Given the description of an element on the screen output the (x, y) to click on. 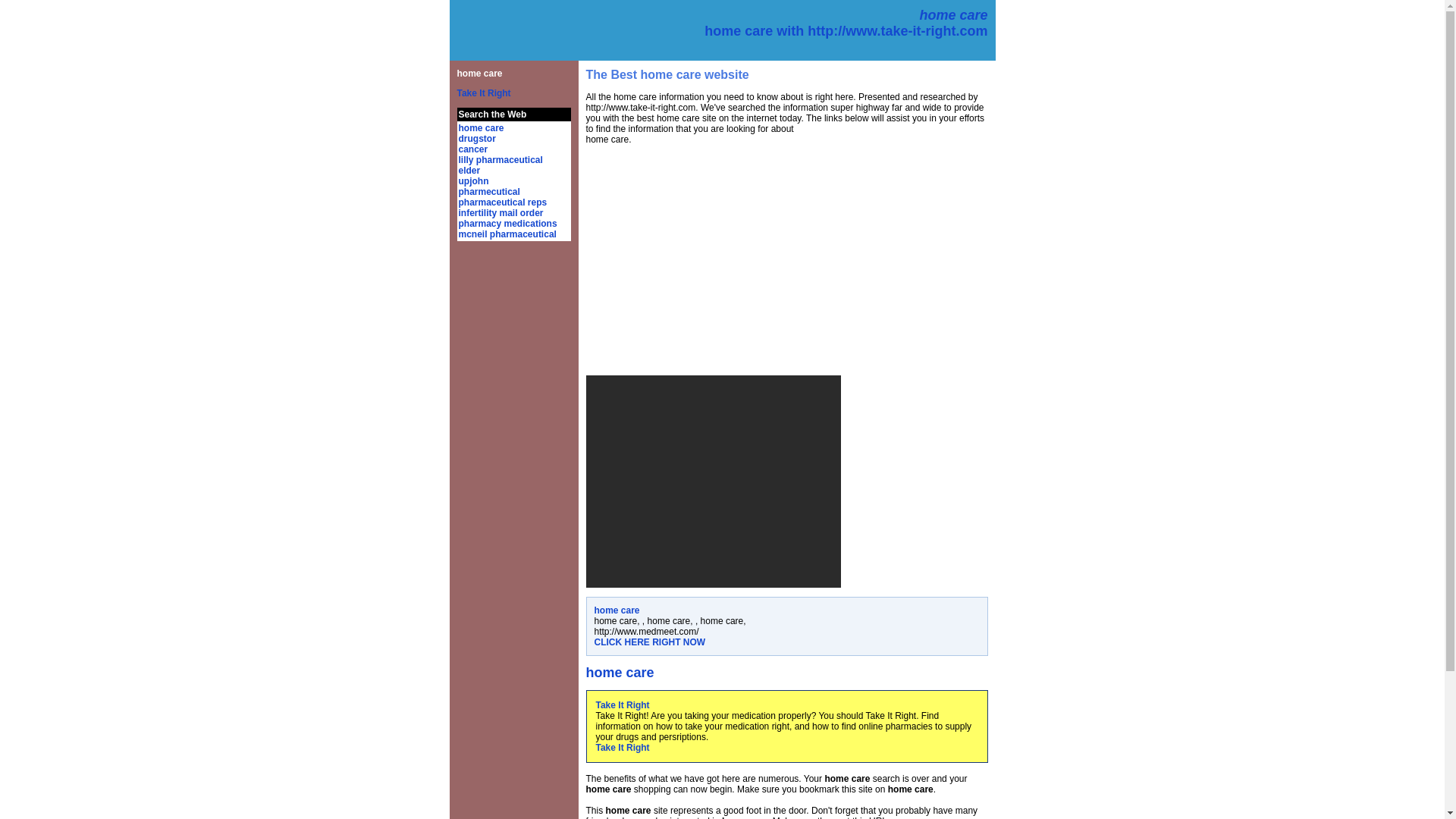
lilly pharmaceutical (499, 159)
home care (480, 127)
Advertisement (712, 481)
pharmaceutical reps (502, 202)
home care (479, 72)
Take It Right (484, 92)
mcneil pharmaceutical (507, 234)
Take It Right (622, 747)
infertility mail order pharmacy medications (507, 218)
upjohn (472, 181)
